Given the description of an element on the screen output the (x, y) to click on. 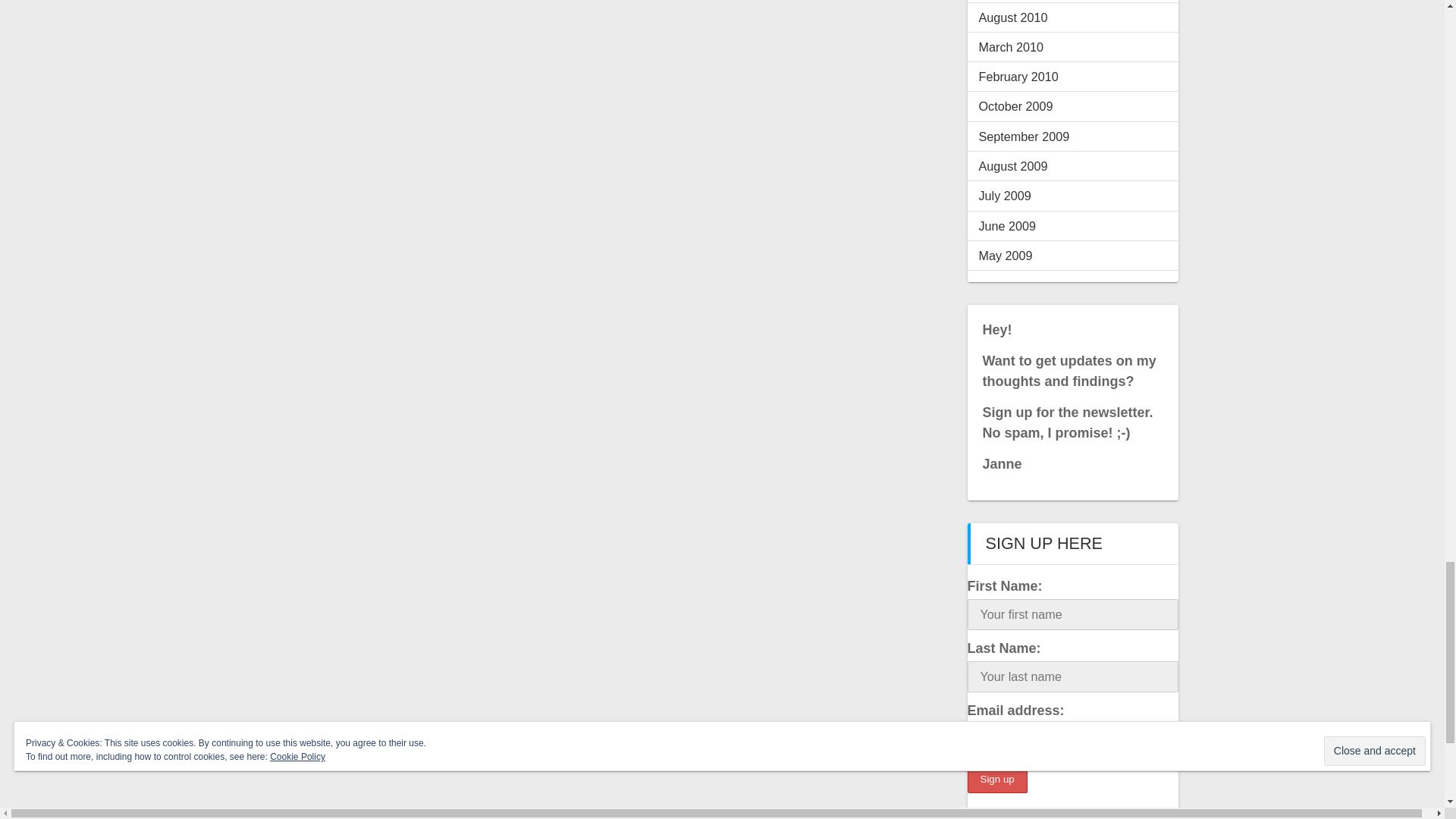
Sign up (997, 778)
